Given the description of an element on the screen output the (x, y) to click on. 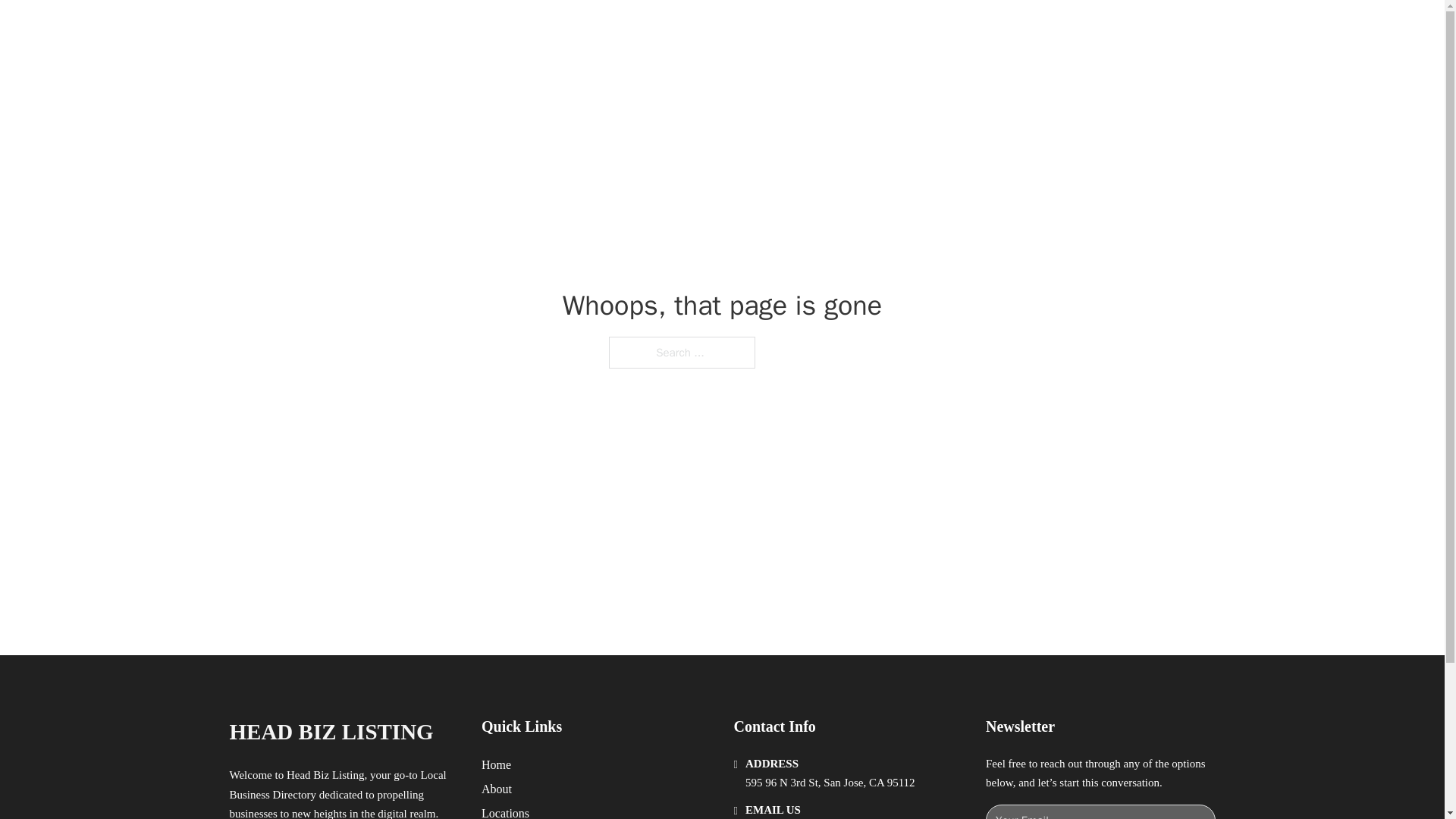
Home (496, 764)
Locations (505, 811)
About (496, 788)
HEAD BIZ LISTING (400, 28)
HEAD BIZ LISTING (330, 732)
